Given the description of an element on the screen output the (x, y) to click on. 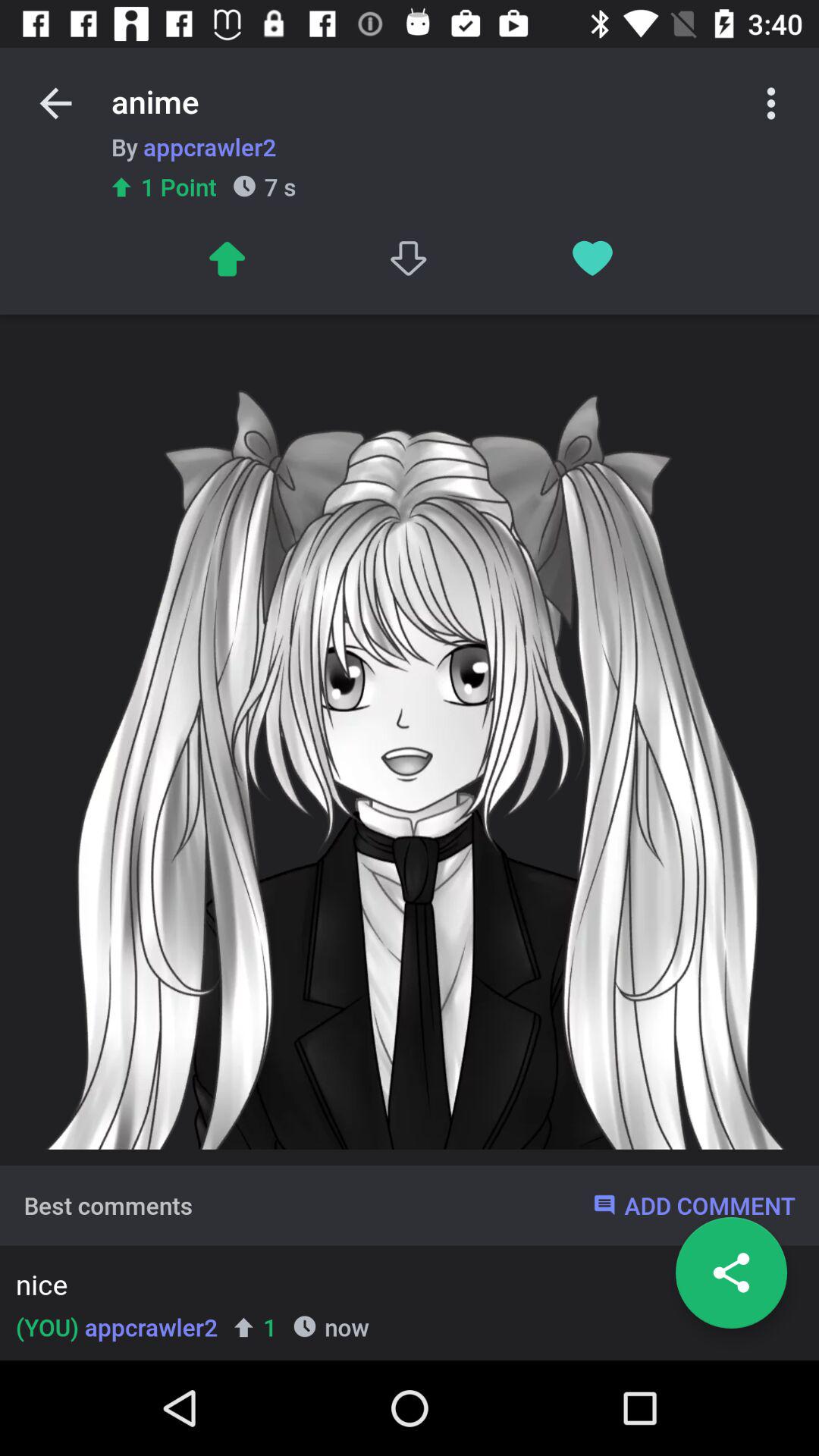
options toggle (771, 103)
